Given the description of an element on the screen output the (x, y) to click on. 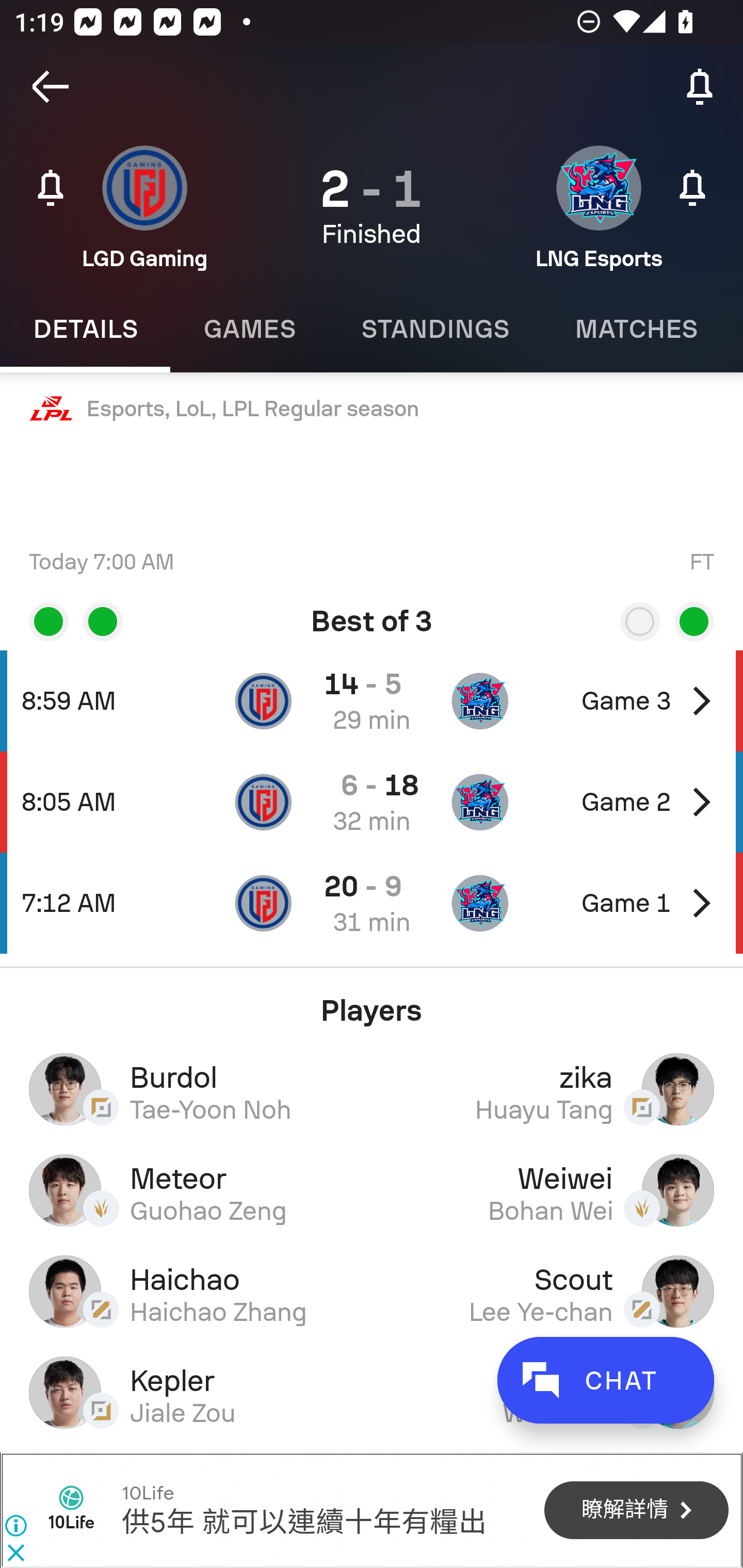
Navigate up (50, 86)
Games GAMES (249, 329)
Standings STANDINGS (434, 329)
Matches MATCHES (635, 329)
Esports, LoL, LPL Regular season (371, 409)
Best of 3 (371, 614)
8:59 AM 14 - 5 29 min Game 3 (371, 700)
8:05 AM 6 - 18 32 min Game 2 (371, 801)
7:12 AM 20 - 9 31 min Game 1 (371, 902)
Players (371, 1002)
Burdol zika Tae-Yoon Noh Huayu Tang (371, 1088)
Meteor Weiwei Guohao Zeng Bohan Wei (371, 1189)
Haichao Scout Haichao Zhang Lee Ye-chan (371, 1291)
CHAT (605, 1380)
10Life (71, 1509)
10Life (147, 1492)
瞭解詳情 (636, 1511)
供5年 就可以連續十年有糧出 (303, 1522)
